Given the description of an element on the screen output the (x, y) to click on. 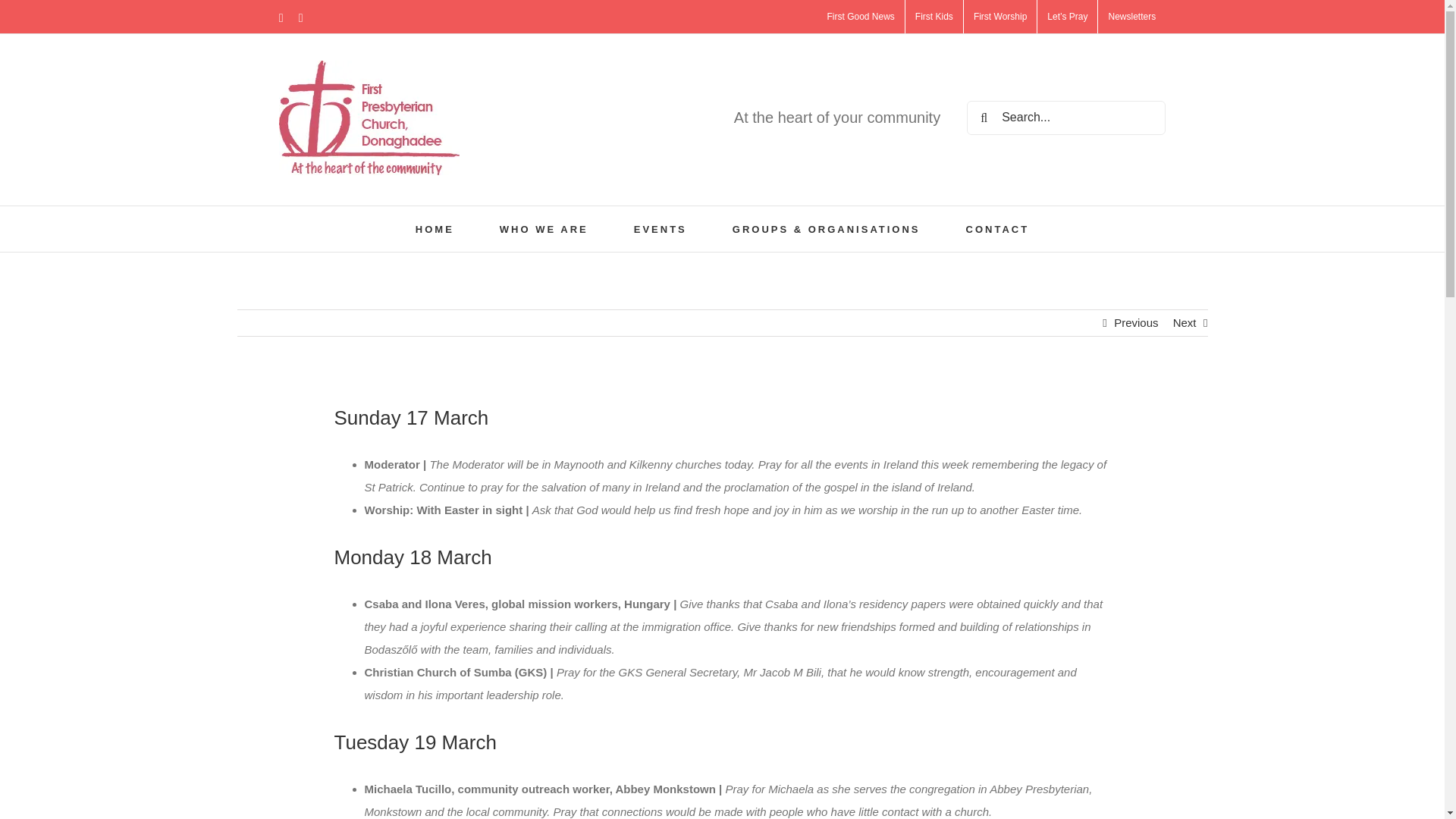
First Worship (999, 16)
EVENTS (660, 228)
Previous (1135, 322)
First Kids (933, 16)
WHO WE ARE (543, 228)
Newsletters (1131, 16)
First Good News (860, 16)
CONTACT (997, 228)
